Given the description of an element on the screen output the (x, y) to click on. 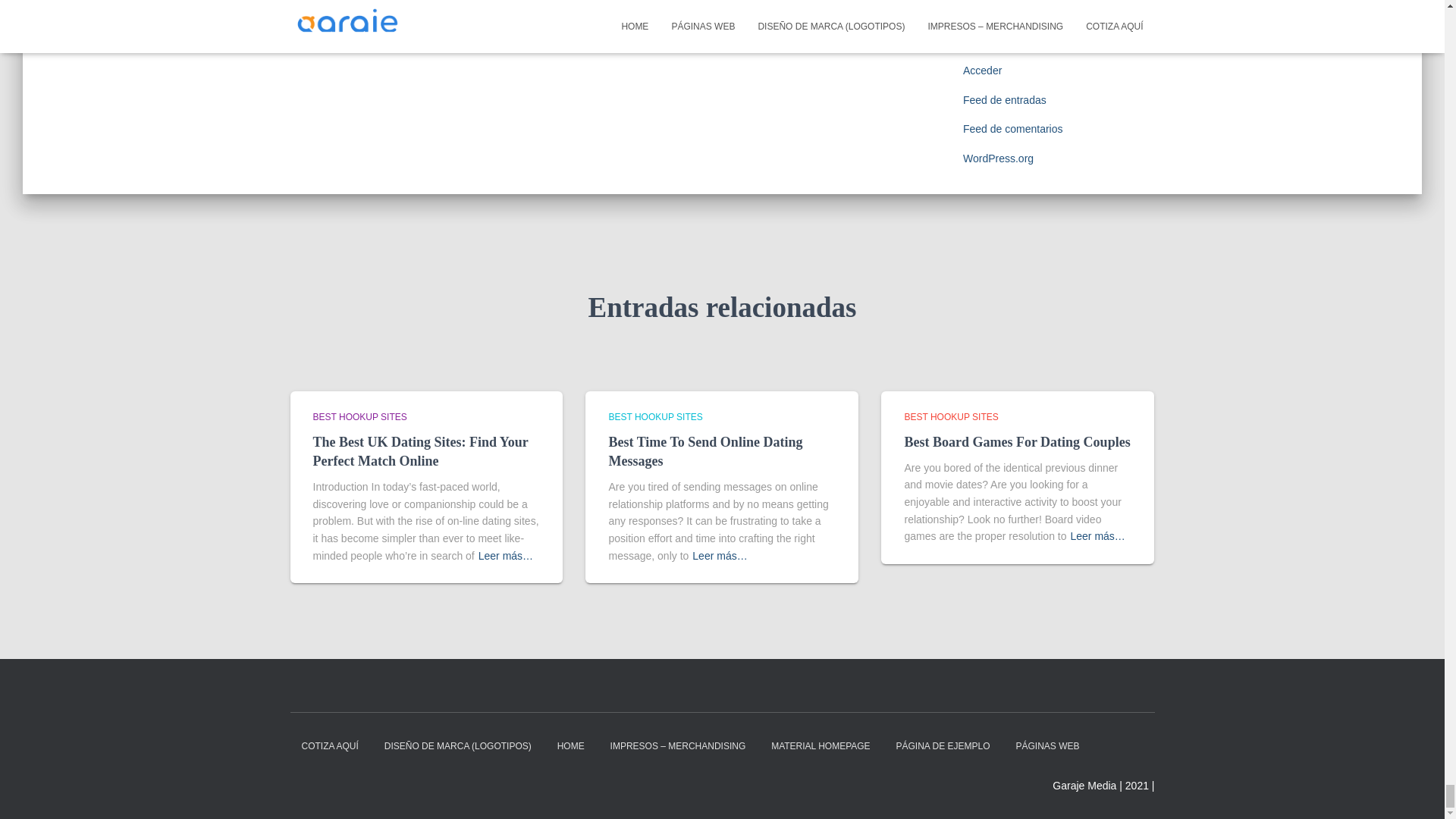
Best Board Games For Dating Couples (1016, 441)
Ver todos las entradas en Best Hookup Sites (359, 416)
Ver todos las entradas en Best Hookup Sites (654, 416)
Ver todos las entradas en Best Hookup Sites (950, 416)
Best Time To Send Online Dating Messages (705, 451)
The Best UK Dating Sites: Find Your Perfect Match Online (420, 451)
